Given the description of an element on the screen output the (x, y) to click on. 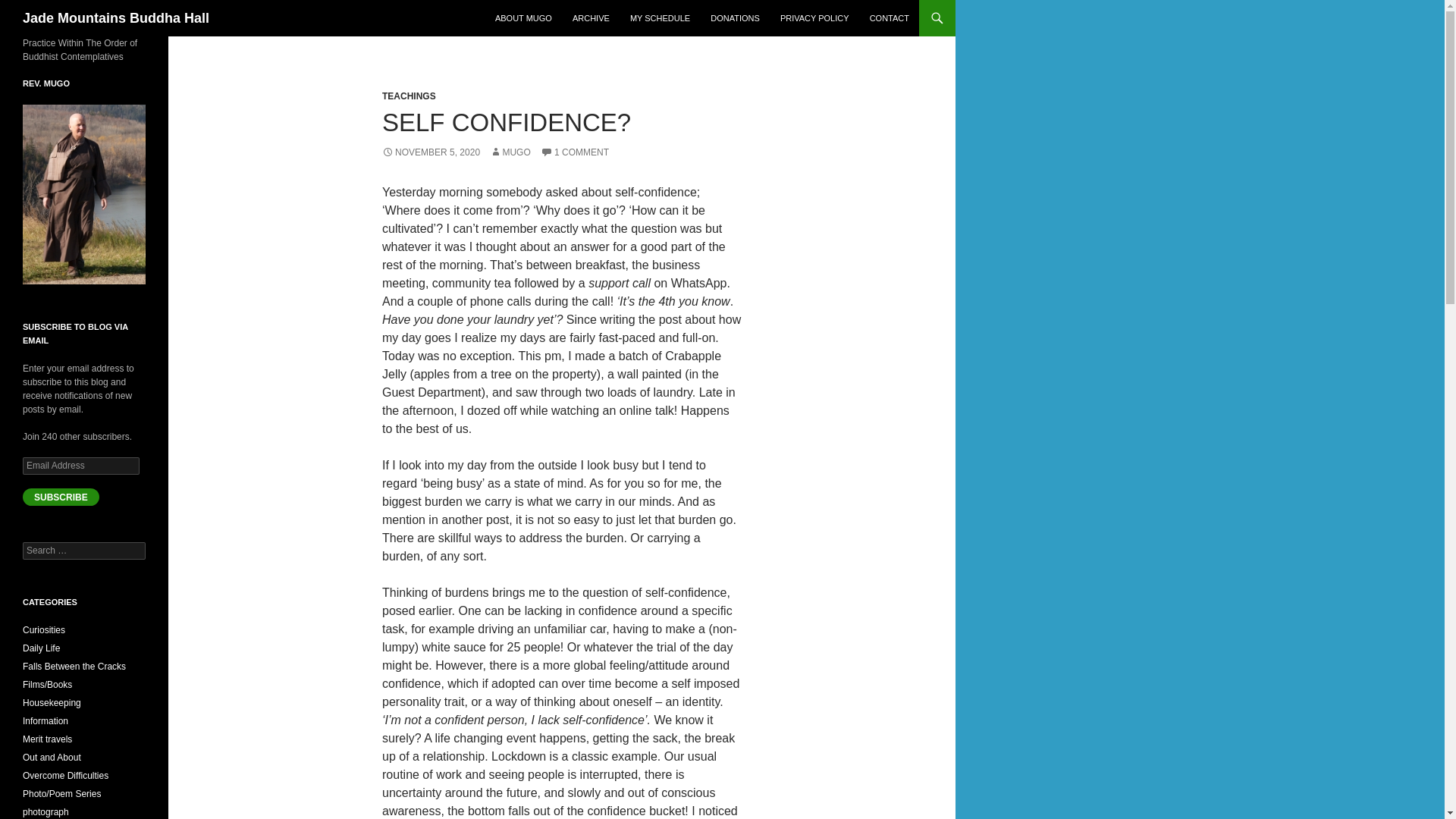
MUGO (509, 152)
1 COMMENT (574, 152)
CONTACT (889, 18)
Search (30, 8)
Daily Life (41, 647)
TEACHINGS (408, 95)
Information (45, 720)
Merit travels (47, 738)
NOVEMBER 5, 2020 (430, 152)
DONATIONS (734, 18)
SUBSCRIBE (61, 497)
Jade Mountains Buddha Hall (116, 18)
Falls Between the Cracks (74, 665)
ARCHIVE (590, 18)
Housekeeping (52, 702)
